Given the description of an element on the screen output the (x, y) to click on. 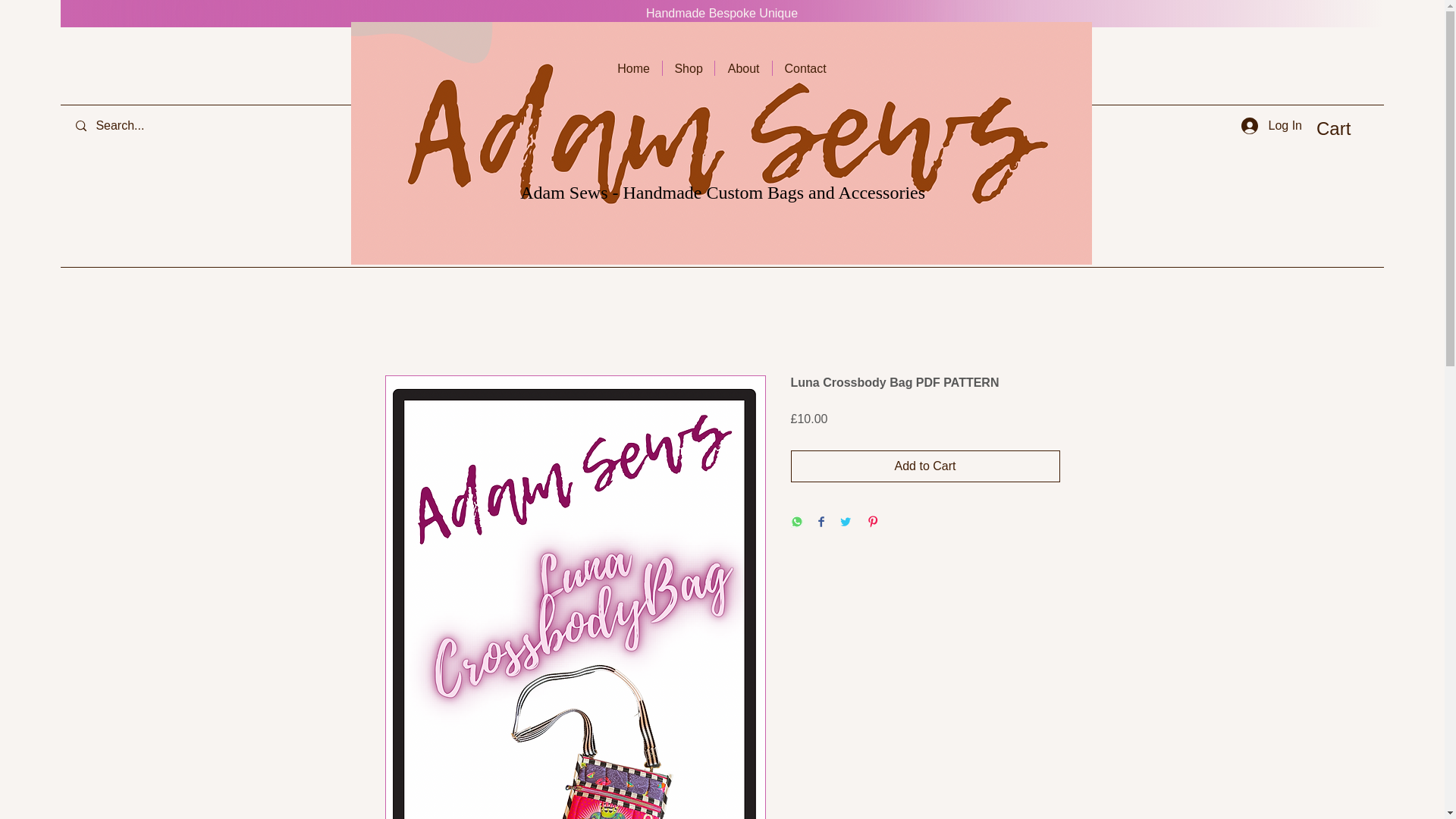
Contact (805, 68)
Cart (1347, 128)
Adam Sews - Handmade Custom Bags and Accessories (721, 192)
Cart (1347, 128)
Home (633, 68)
Add to Cart (924, 466)
Shop (688, 68)
About (742, 68)
Log In (1271, 125)
